Given the description of an element on the screen output the (x, y) to click on. 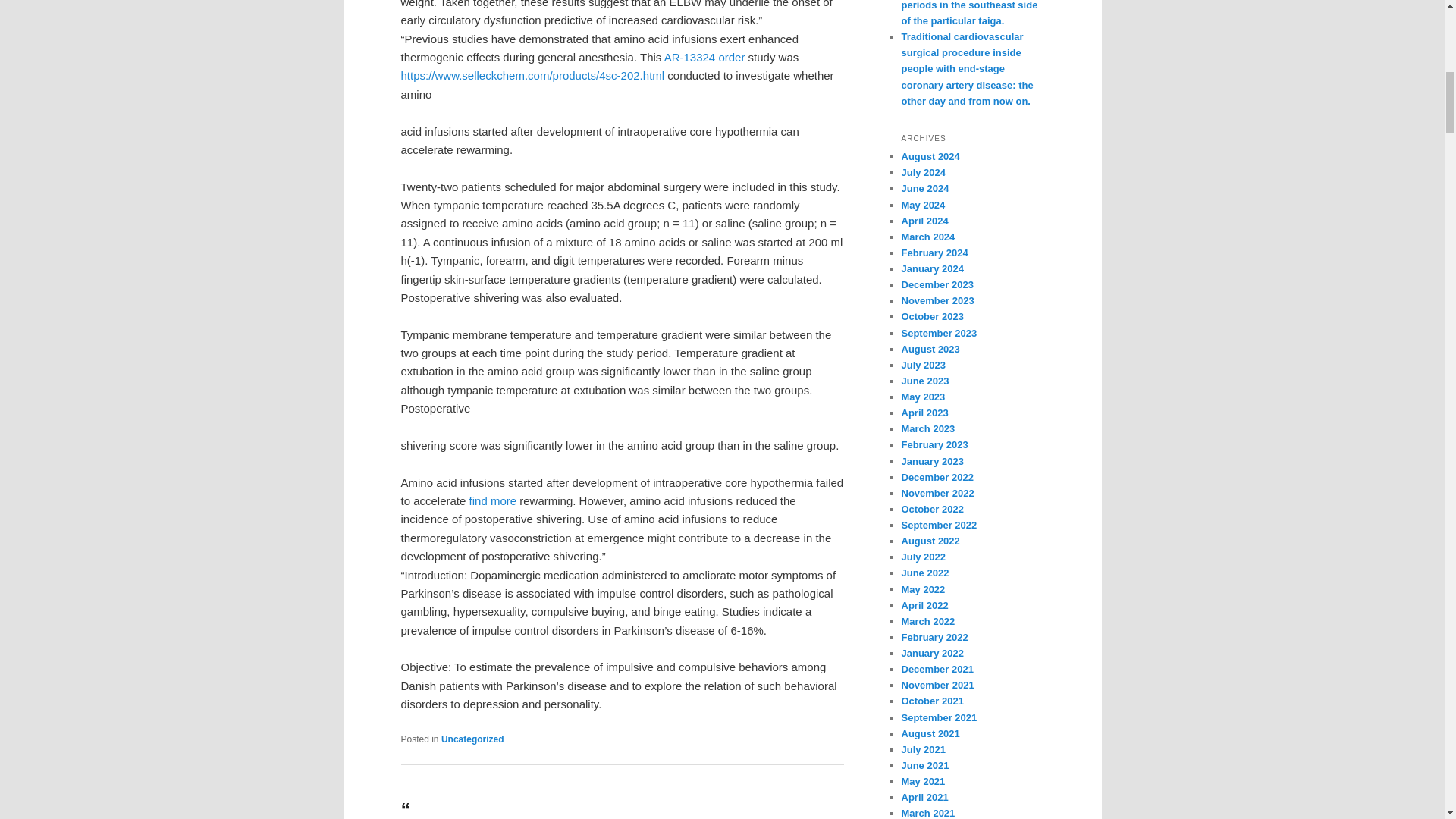
AR-13324 order (704, 56)
Uncategorized (472, 738)
View all posts in Uncategorized (472, 738)
find more (492, 500)
